Given the description of an element on the screen output the (x, y) to click on. 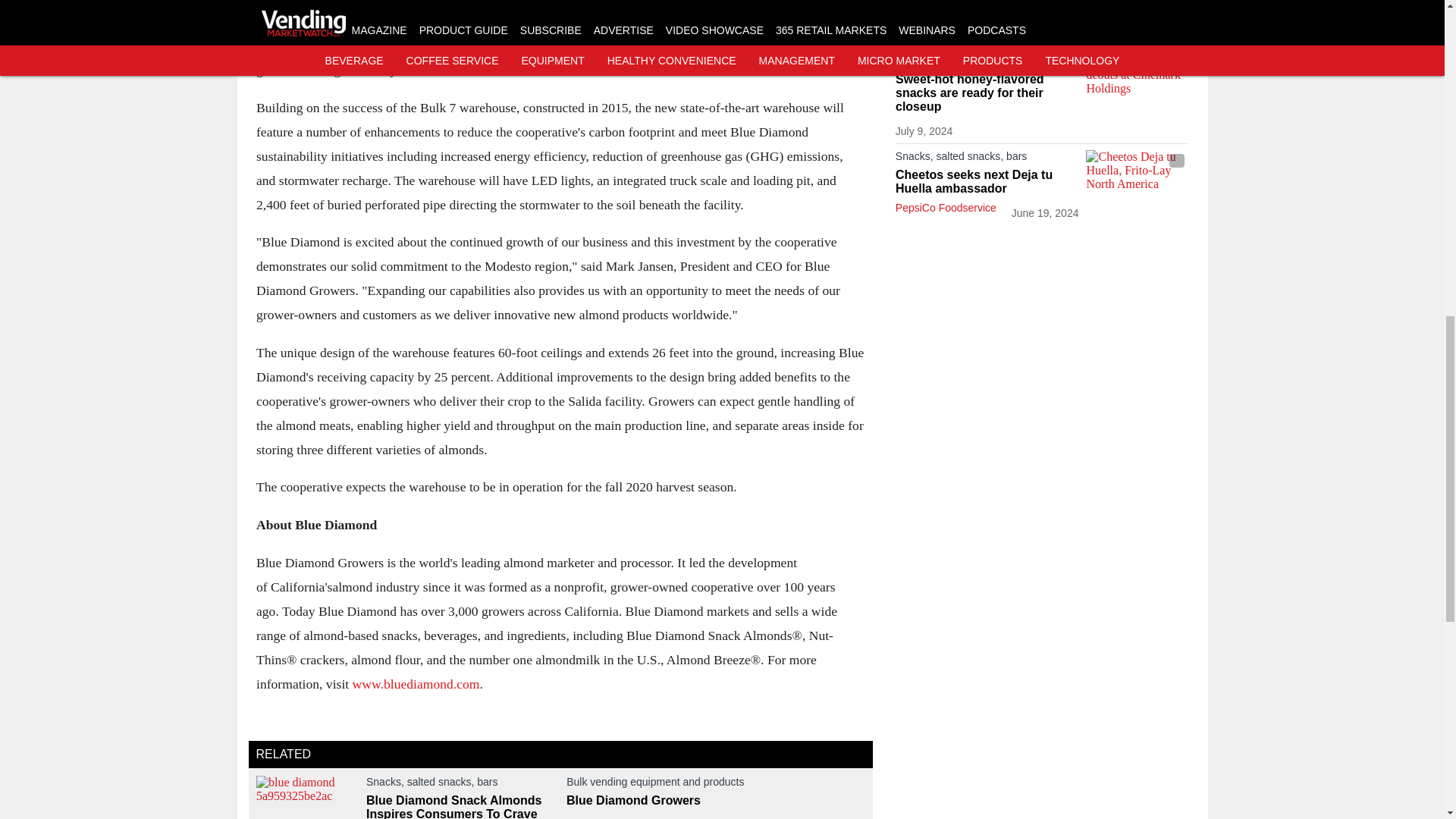
www.bluediamond.com (415, 683)
Blue Diamond Growers (715, 800)
Bulk vending equipment and products (715, 784)
doritos jack links (1137, 14)
blue diamond 5a959325be2ac (307, 797)
Mike's Hot Honey debuts at Cinemark Holdings (1137, 82)
Snacks, salted snacks, bars (459, 784)
Cheetos Deja tu Huella, Frito-Lay North America (1137, 178)
